Given the description of an element on the screen output the (x, y) to click on. 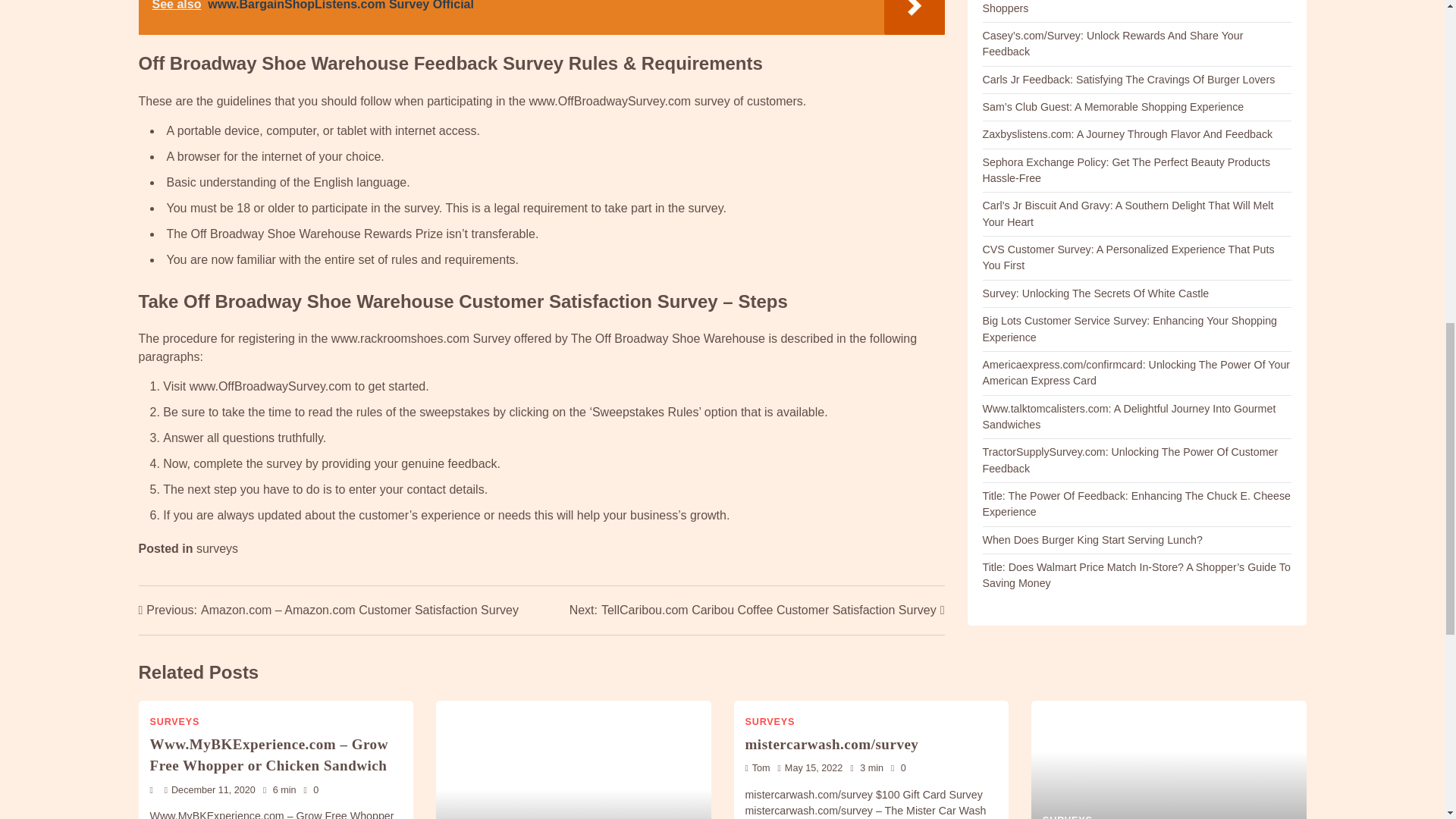
Survey: Unlocking The Secrets Of White Castle (1095, 293)
See also  www.BargainShopListens.com Survey Official (540, 17)
Carls Jr Feedback: Satisfying The Cravings Of Burger Lovers (1128, 79)
surveys (217, 548)
Zaxbyslistens.com: A Journey Through Flavor And Feedback (1127, 133)
When Does Burger King Start Serving Lunch? (1092, 539)
